Given the description of an element on the screen output the (x, y) to click on. 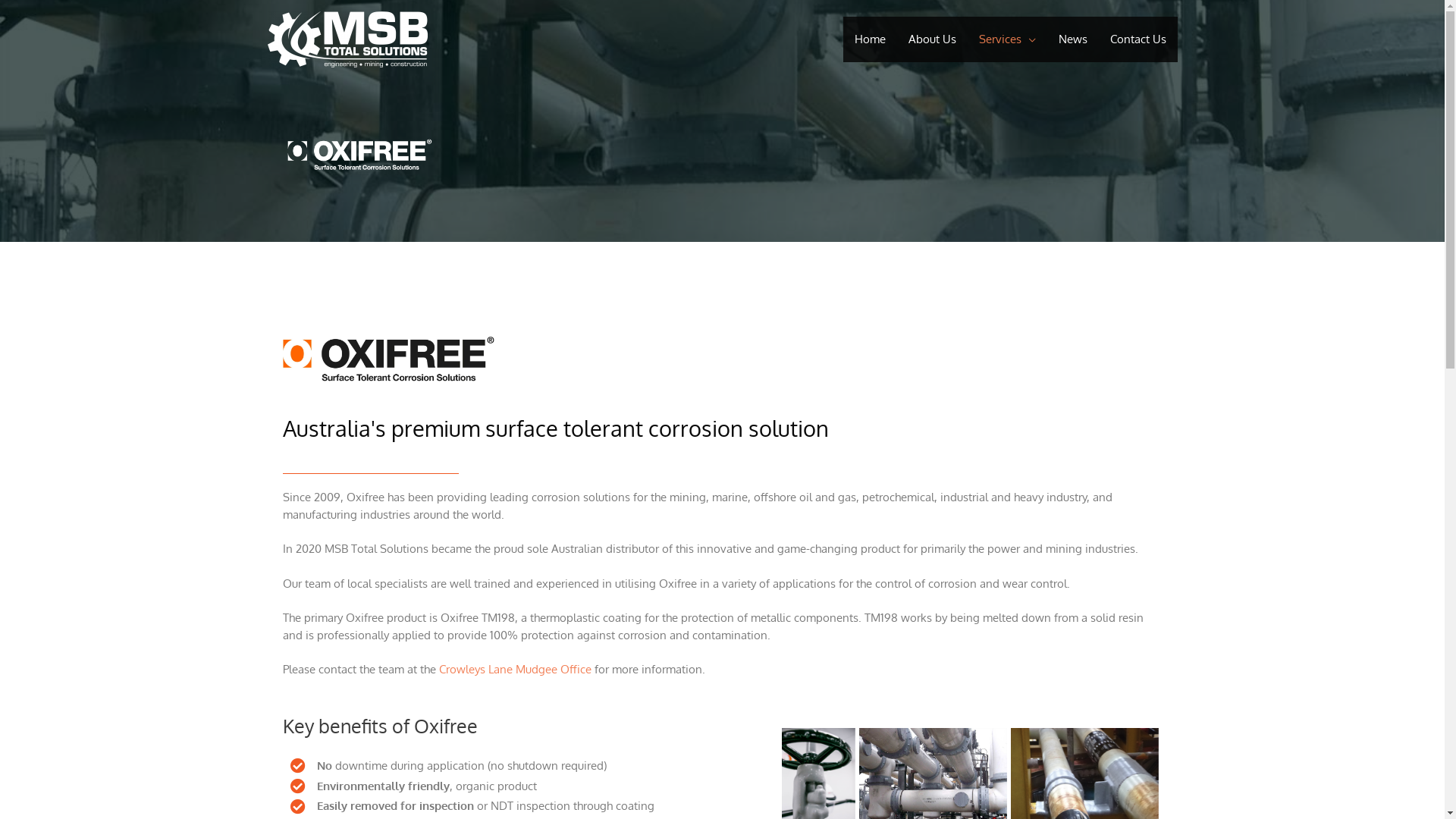
Crowleys Lane Mudgee Office Element type: text (514, 669)
Services Element type: text (1007, 39)
About Us Element type: text (931, 39)
Home Element type: text (870, 39)
Contact Us Element type: text (1137, 39)
Oxifree_Logo_white Element type: hover (357, 156)
News Element type: text (1072, 39)
oxifree Element type: hover (388, 362)
